Given the description of an element on the screen output the (x, y) to click on. 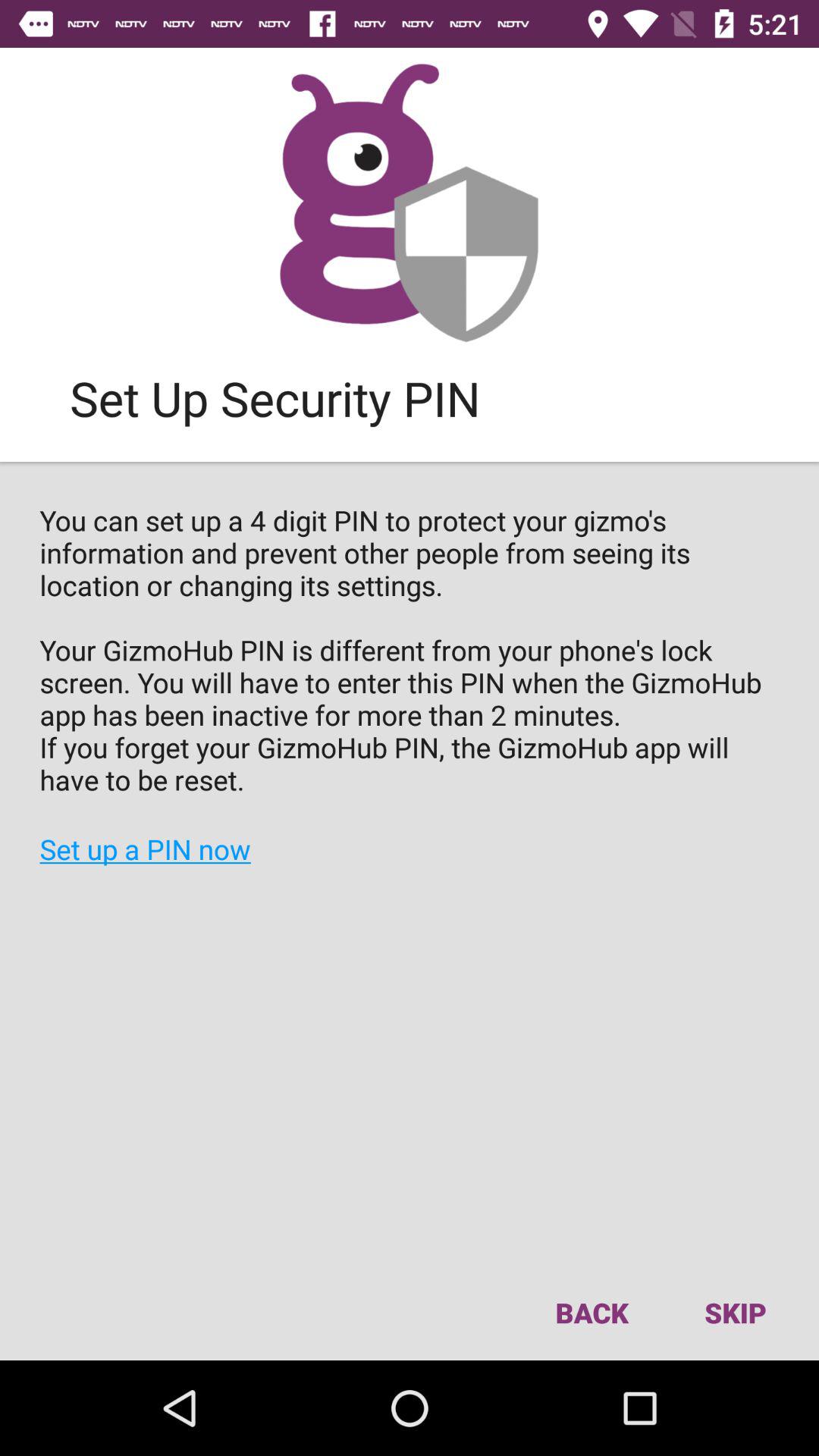
click the icon below you can set (591, 1312)
